Given the description of an element on the screen output the (x, y) to click on. 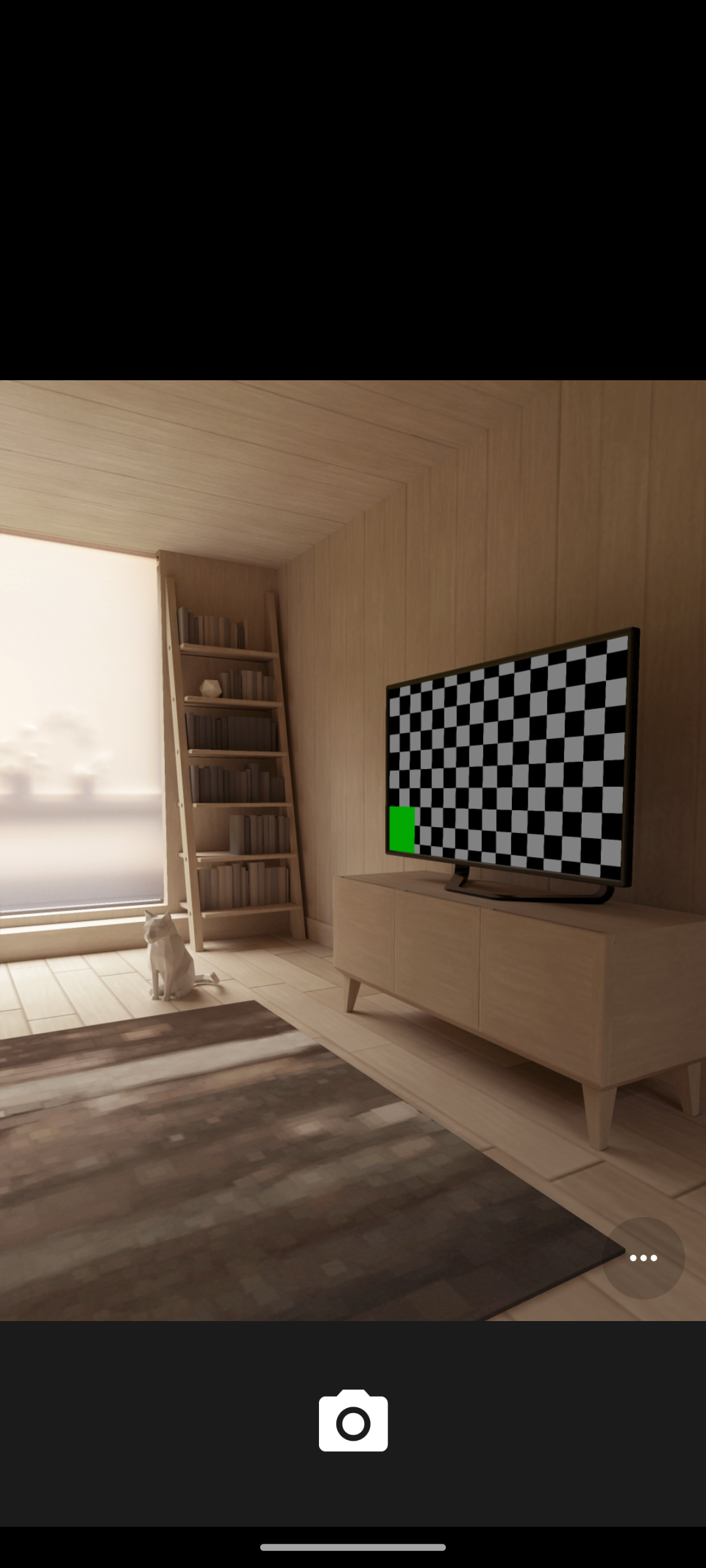
Options (643, 1257)
Shutter (353, 1423)
